Given the description of an element on the screen output the (x, y) to click on. 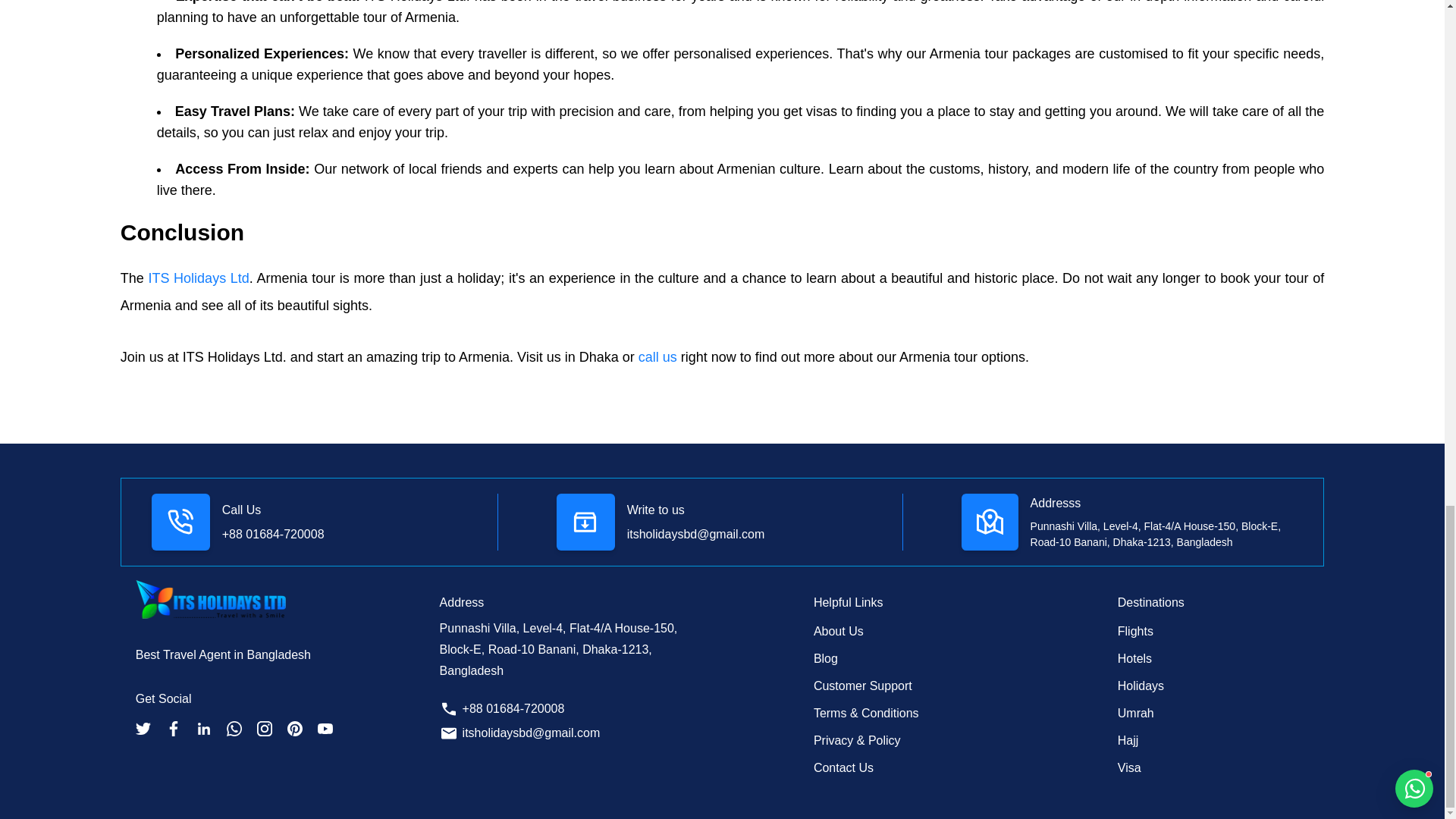
About Us (838, 631)
ITS Holidays Ltd (198, 278)
call us (660, 356)
